Given the description of an element on the screen output the (x, y) to click on. 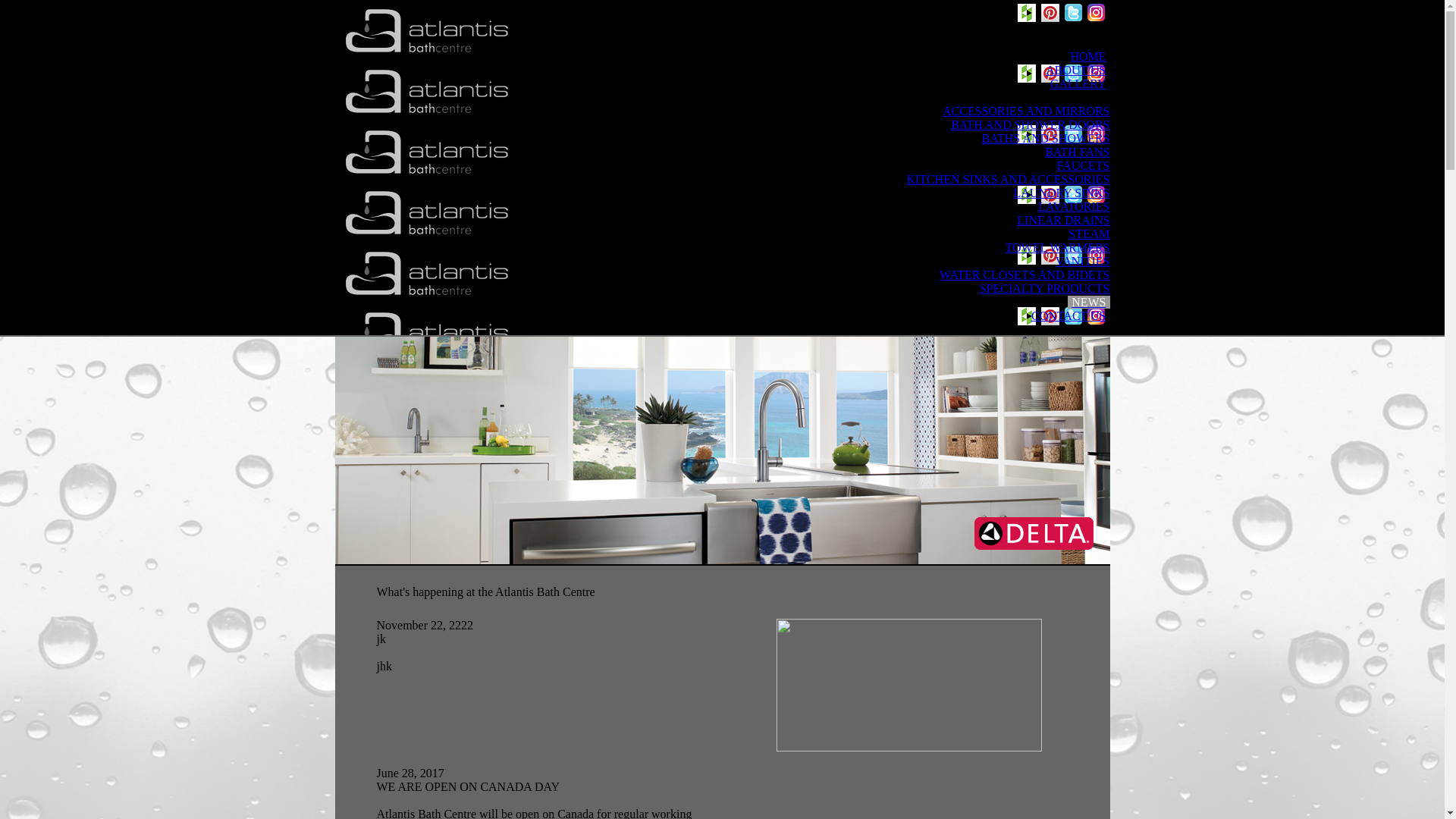
CONTACT US Element type: text (1068, 315)
BATH AND SHOWER DOORS Element type: text (1029, 124)
BATH FANS Element type: text (1077, 151)
HOME Element type: text (1087, 56)
ABOUT US Element type: text (1075, 69)
WATER CLOSETS AND BIDETS Element type: text (1024, 274)
FAUCETS Element type: text (1083, 165)
ACCESSORIES AND MIRRORS Element type: text (1026, 110)
LAVATORIES Element type: text (1073, 206)
KITCHEN SINKS AND ACCESSORIES Element type: text (1007, 178)
TOWEL WARMERS Element type: text (1057, 247)
LAUNDRY SINKS Element type: text (1061, 192)
NEWS Element type: text (1088, 301)
PRODUCTS & SUPPLIERS Element type: text (1035, 97)
VANITIES Element type: text (1082, 260)
SPECIALTY PRODUCTS Element type: text (1044, 288)
GALLERY Element type: text (1078, 83)
STEAM Element type: text (1088, 233)
LINEAR DRAINS Element type: text (1062, 219)
BATHS AND SHOWERS Element type: text (1046, 137)
